Given the description of an element on the screen output the (x, y) to click on. 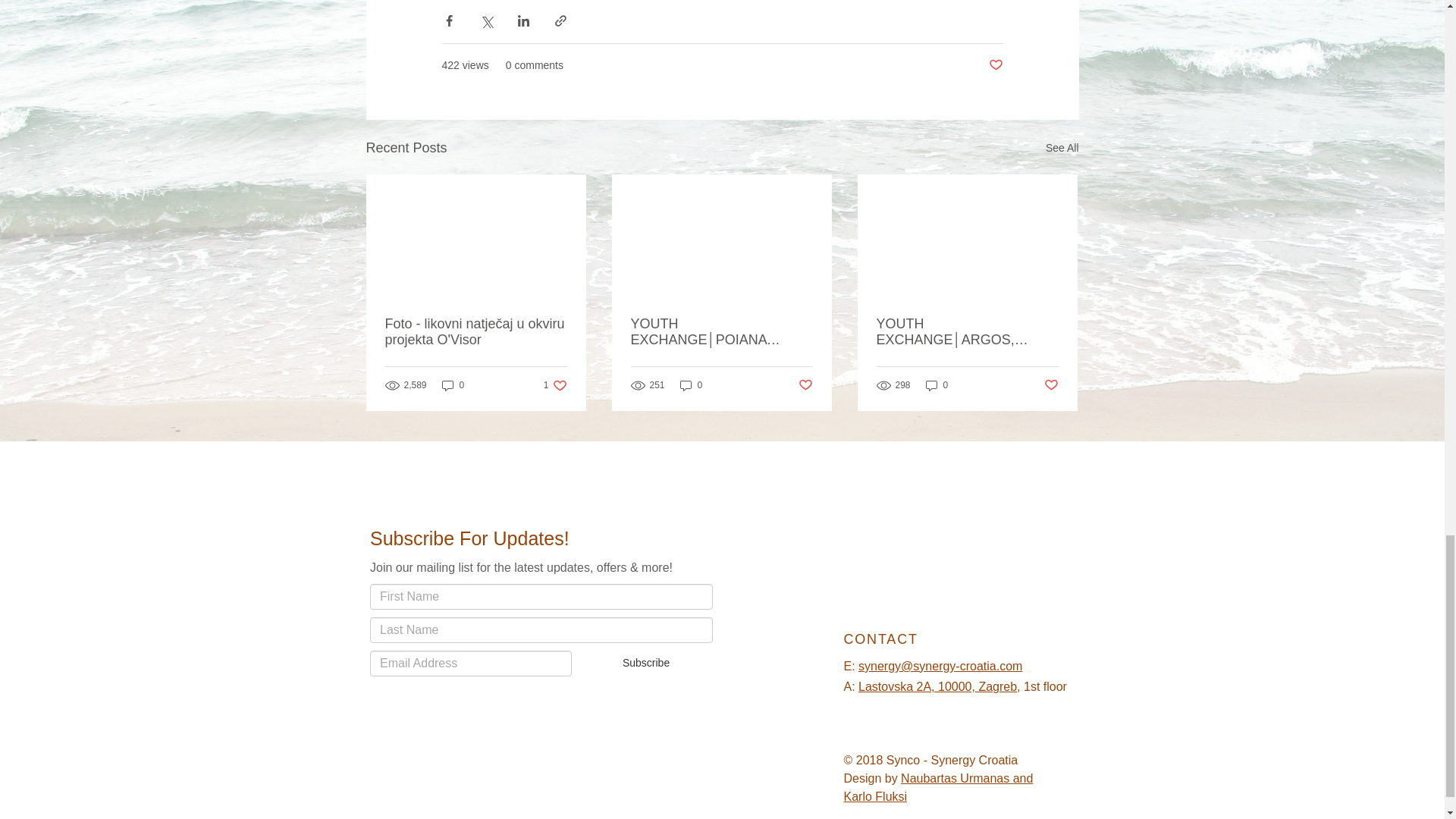
Post not marked as liked (995, 65)
See All (1061, 147)
0 (453, 384)
Contact Collection (540, 647)
Post not marked as liked (1050, 385)
Post not marked as liked (555, 384)
0 (804, 385)
0 (937, 384)
